Given the description of an element on the screen output the (x, y) to click on. 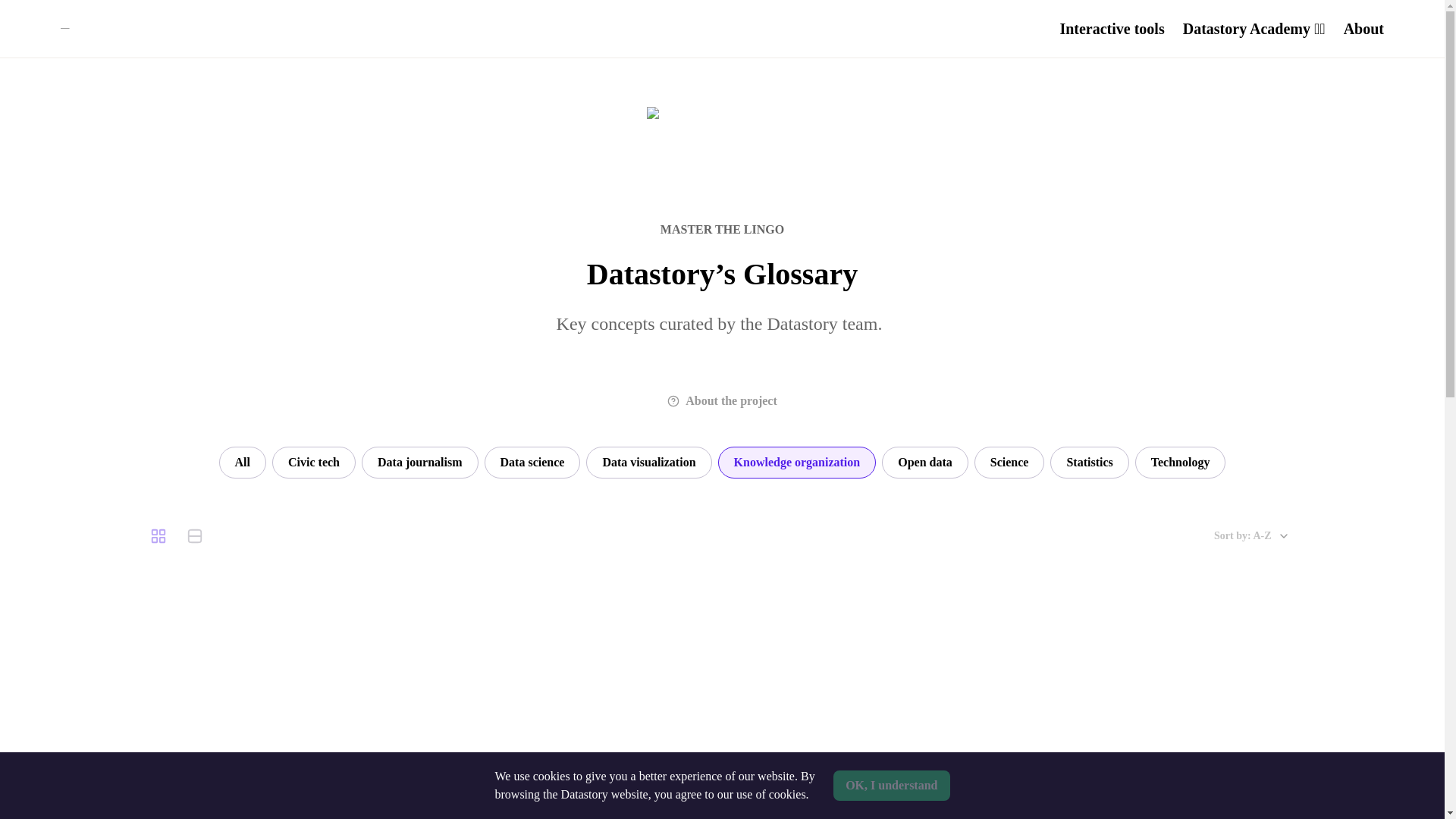
Civic tech (313, 462)
Knowledge organization (796, 462)
Sort by: A-Z (1251, 535)
Data science (532, 462)
About (1363, 28)
Science (1009, 462)
About the project (722, 400)
Statistics (1088, 462)
Open data (925, 462)
Technology (1180, 462)
asc (101, 49)
All (242, 462)
desc (101, 27)
Data journalism (420, 462)
Interactive tools (1111, 28)
